Given the description of an element on the screen output the (x, y) to click on. 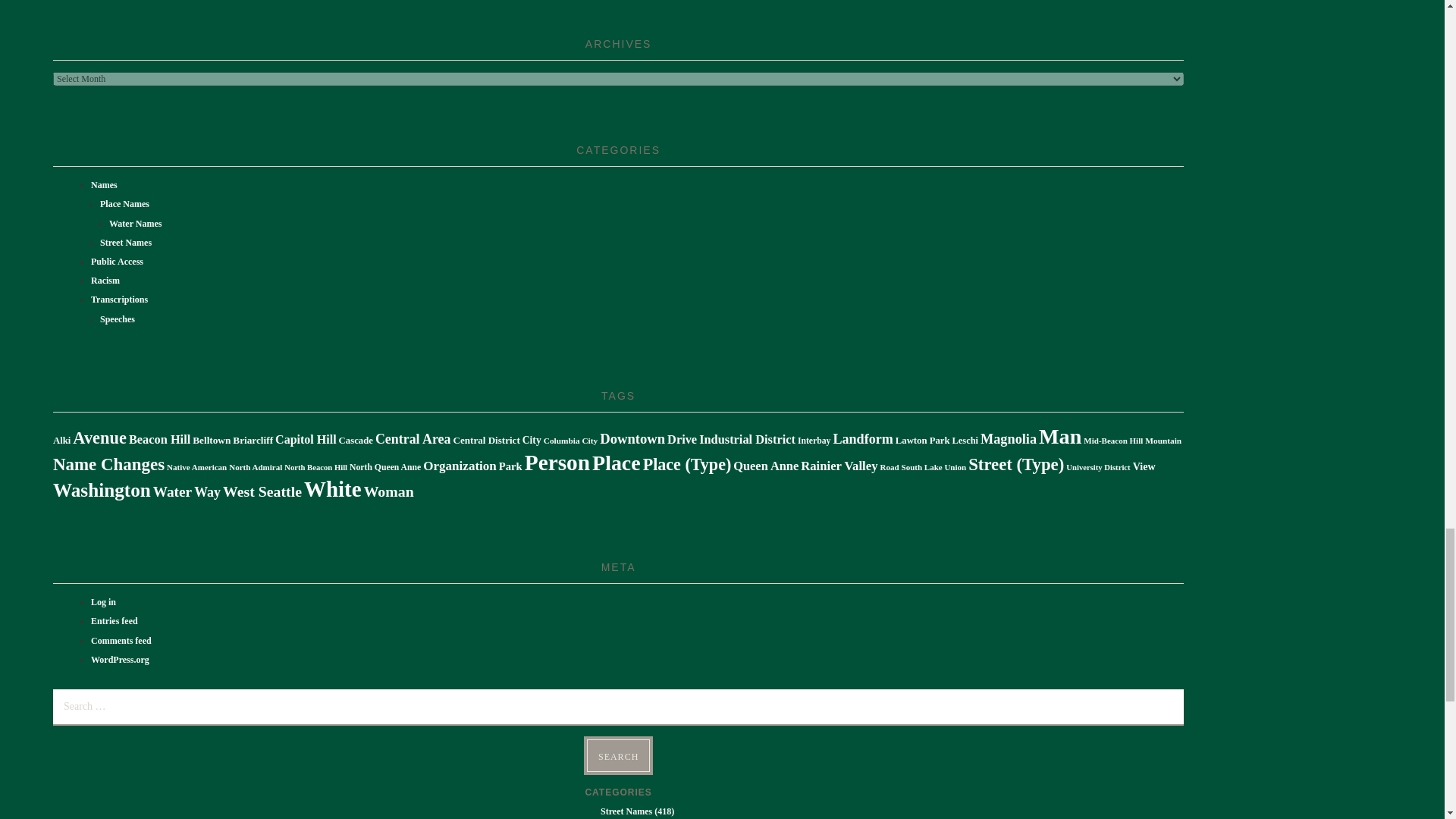
Search (617, 755)
Search (617, 755)
